Given the description of an element on the screen output the (x, y) to click on. 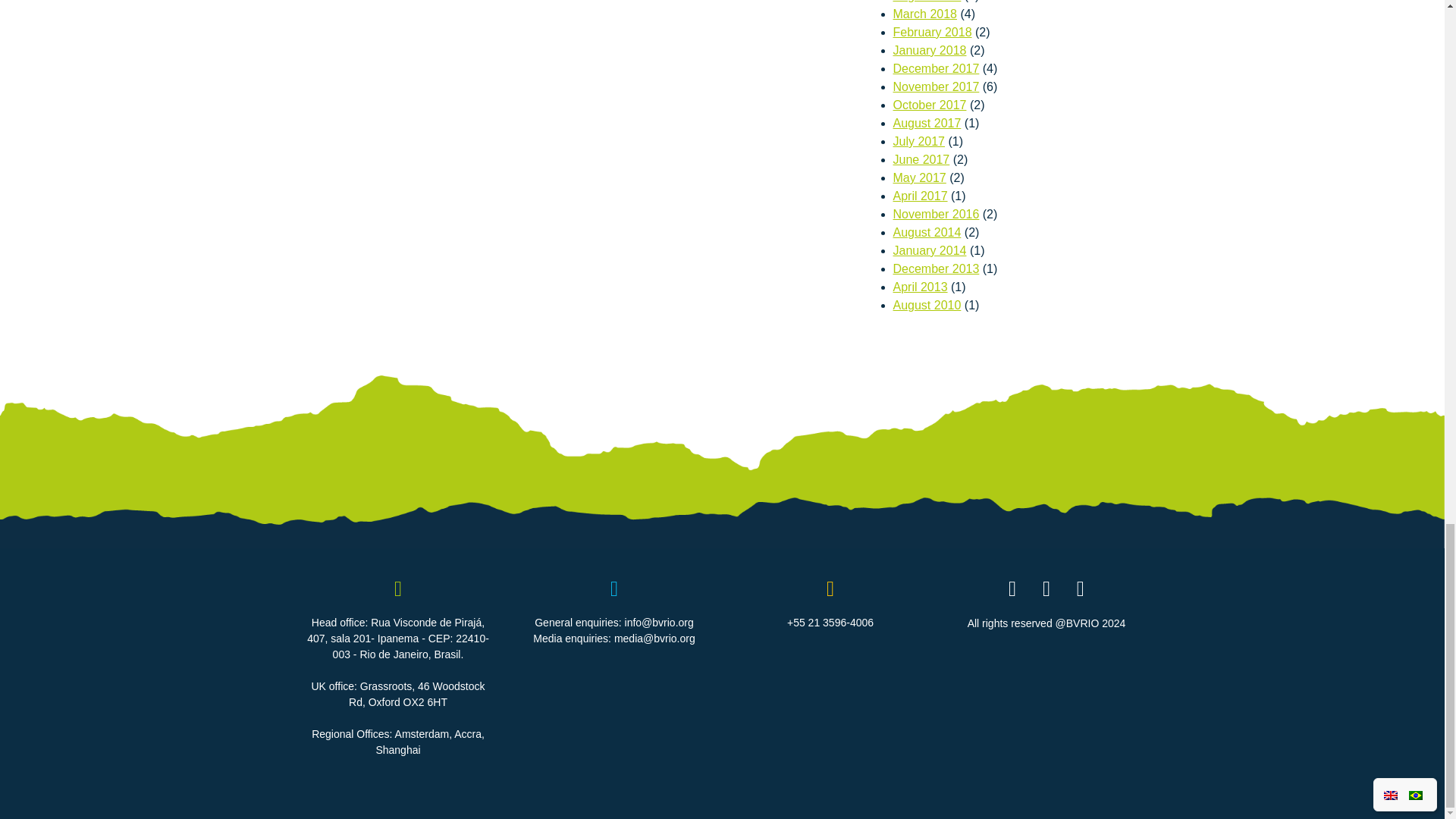
Linkedin link (1045, 592)
Youtube link (1080, 592)
Twitter link (1012, 592)
